Given the description of an element on the screen output the (x, y) to click on. 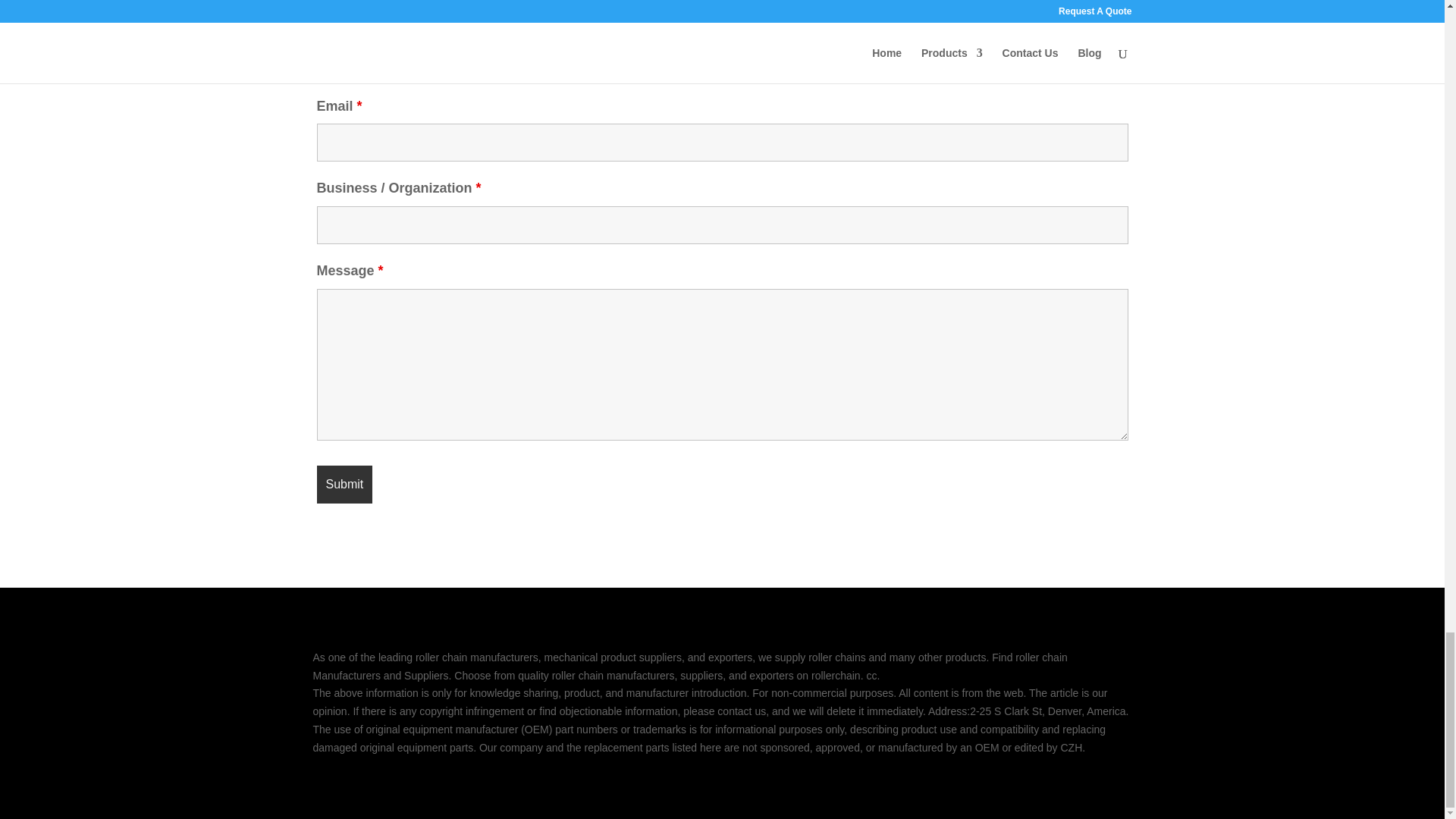
Submit (344, 484)
